Given the description of an element on the screen output the (x, y) to click on. 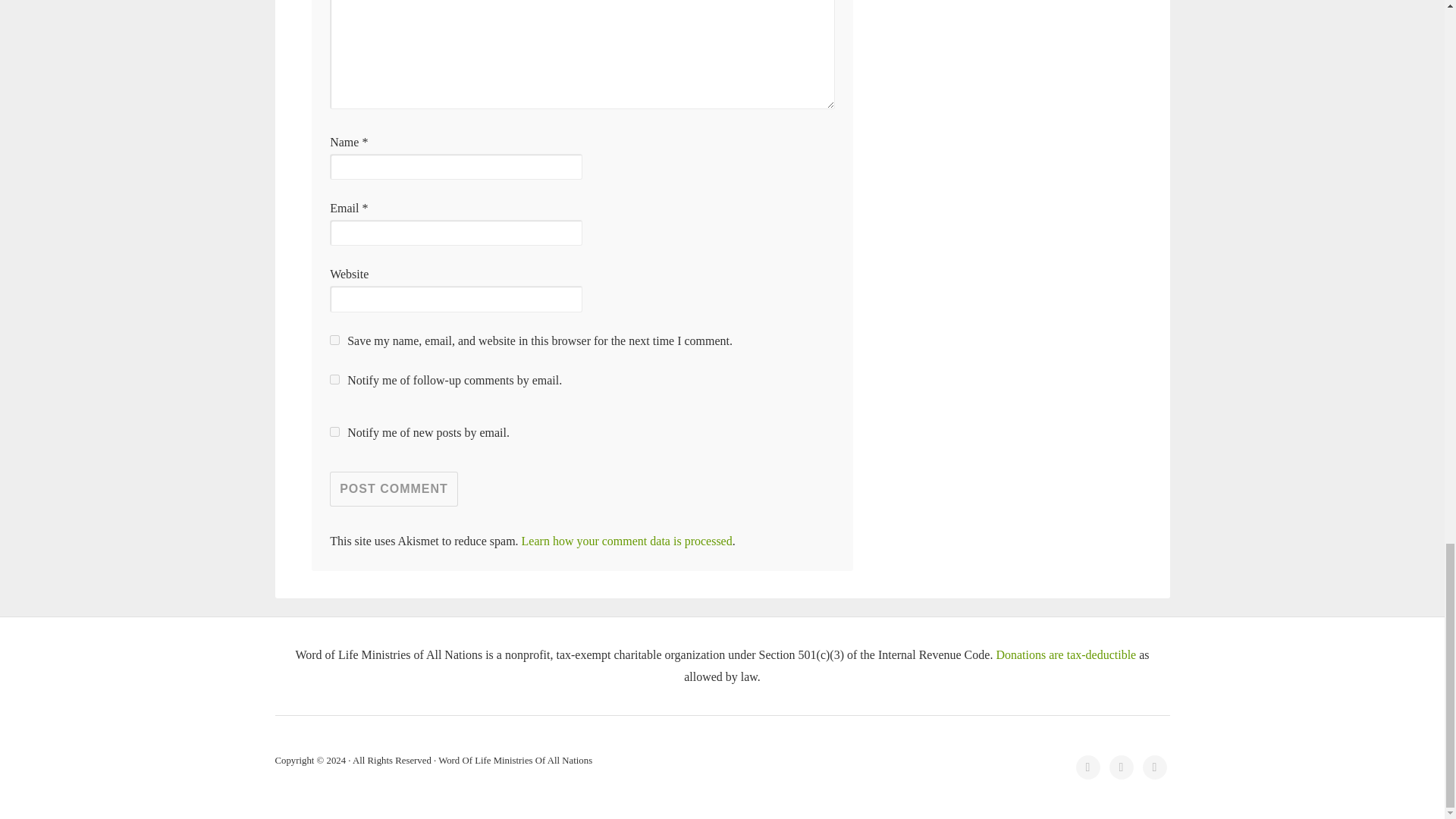
yes (334, 339)
Learn how your comment data is processed (626, 540)
subscribe (334, 379)
subscribe (334, 431)
Post Comment (394, 488)
Post Comment (394, 488)
